Given the description of an element on the screen output the (x, y) to click on. 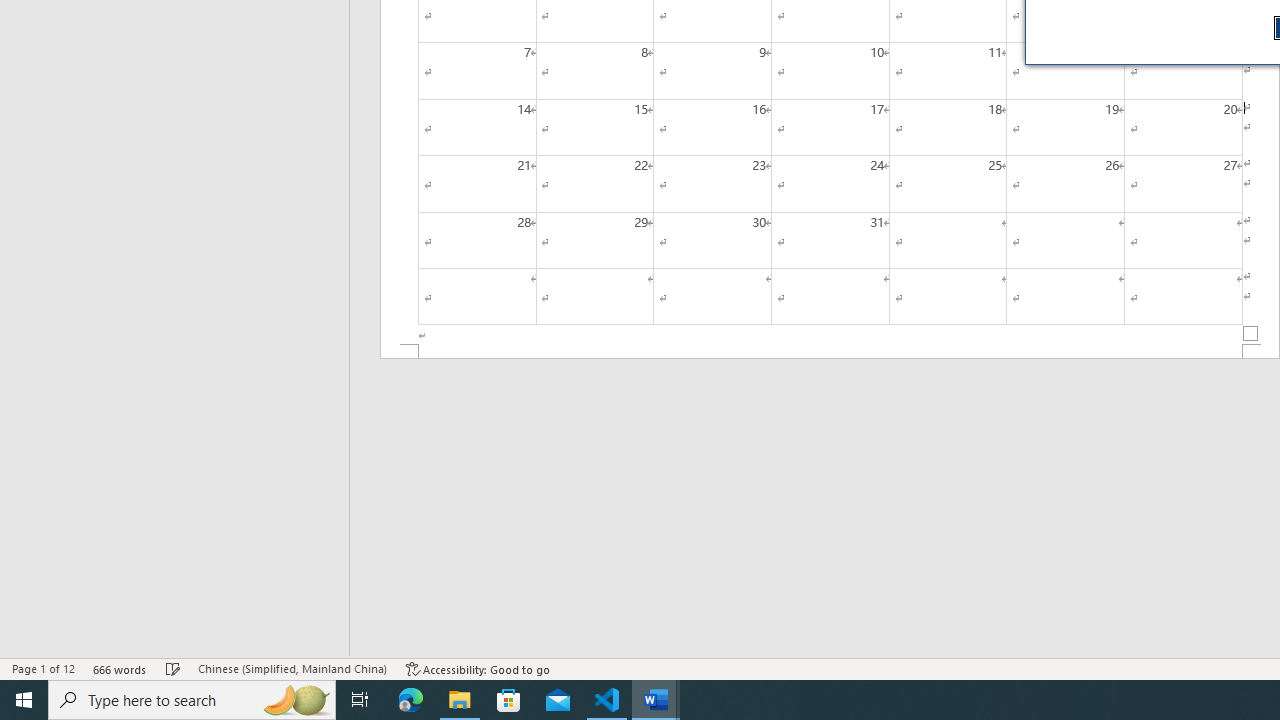
File Explorer - 1 running window (460, 699)
Microsoft Edge (411, 699)
Spelling and Grammar Check Checking (173, 668)
Language Chinese (Simplified, Mainland China) (292, 668)
Search highlights icon opens search home window (295, 699)
Accessibility Checker Accessibility: Good to go (478, 668)
Word Count 666 words (119, 668)
Visual Studio Code - 1 running window (607, 699)
Type here to search (191, 699)
Start (24, 699)
Footer -Section 1- (830, 351)
Page Number Page 1 of 12 (43, 668)
Task View (359, 699)
